Given the description of an element on the screen output the (x, y) to click on. 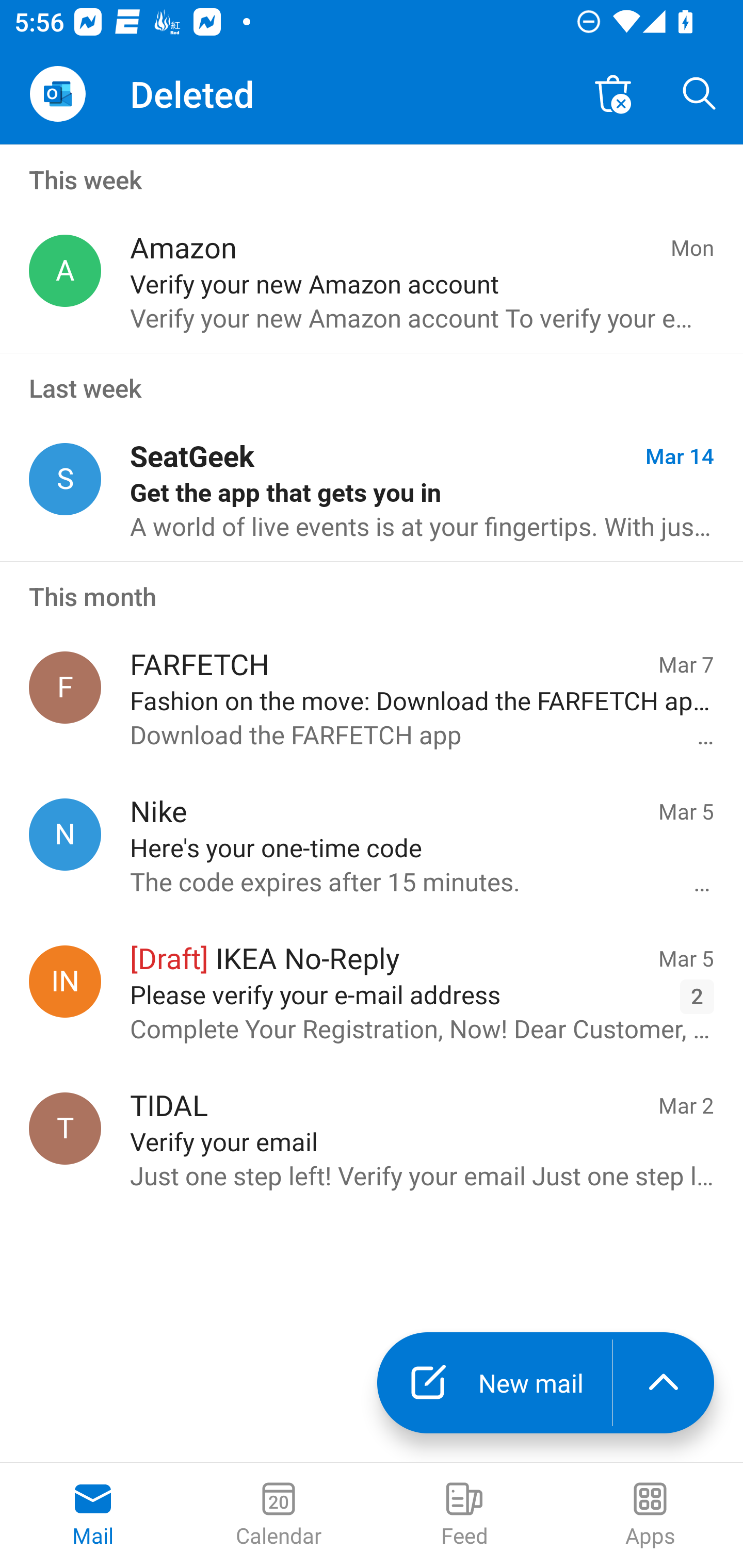
Empty Deleted (612, 93)
Search, ,  (699, 93)
Open Navigation Drawer (57, 94)
Amazon, account-update@amazon.com (64, 271)
SeatGeek, events@seatgeek.com (64, 479)
FARFETCH, farfetch@email.farfetch.com (64, 687)
Nike, nike@notifications.nike.com (64, 834)
IKEA No-Reply, noreply@ikea.com.hk (64, 981)
TIDAL, account@info.tidal.com (64, 1128)
New mail (494, 1382)
launch the extended action menu (663, 1382)
Calendar (278, 1515)
Feed (464, 1515)
Apps (650, 1515)
